Given the description of an element on the screen output the (x, y) to click on. 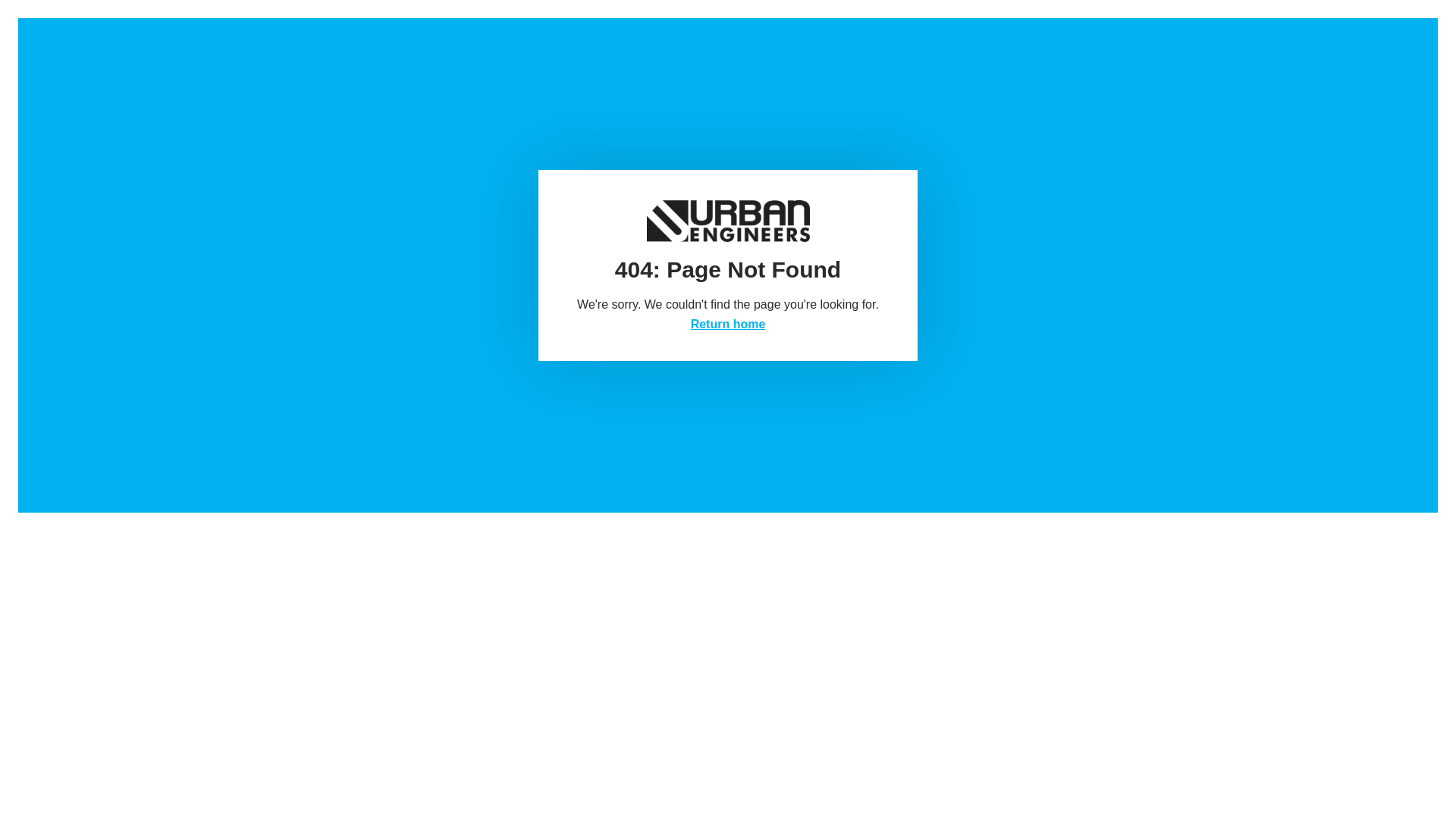
Return home (727, 323)
